Given the description of an element on the screen output the (x, y) to click on. 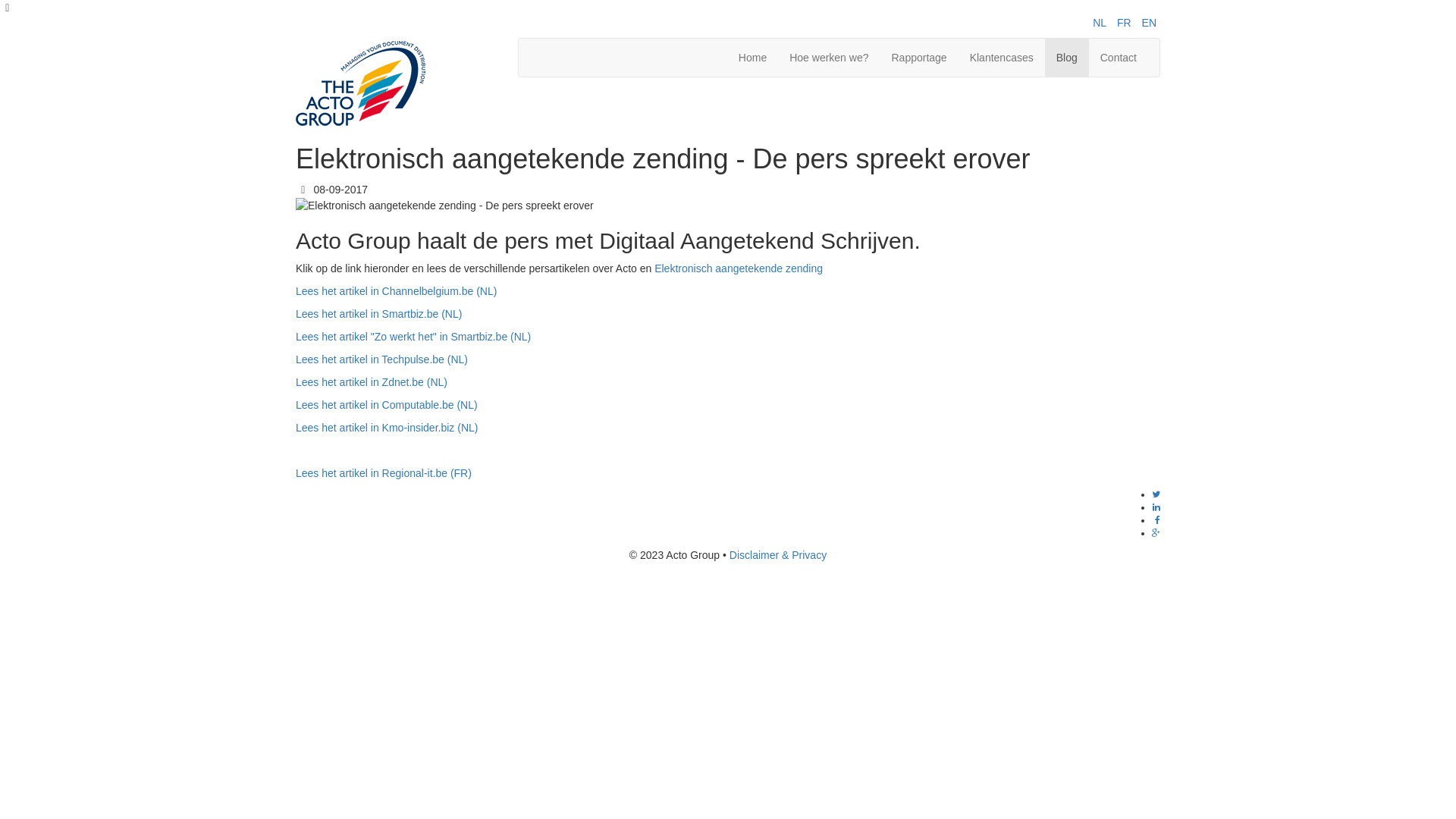
Contact Element type: text (1118, 57)
Elektronisch aangetekende zending Element type: text (738, 268)
NL Element type: text (1099, 22)
Klantencases Element type: text (1001, 57)
Lees het artikel in Techpulse.be (NL) Element type: text (381, 359)
FR Element type: text (1124, 22)
Blog Element type: text (1066, 57)
Lees het artikel in Kmo-insider.biz (NL) Element type: text (386, 427)
Disclaimer & Privacy Element type: text (777, 555)
Home Element type: text (752, 57)
Lees het artikel in Zdnet.be (NL) Element type: text (371, 382)
Lees het artikel in Channelbelgium.be (NL) Element type: text (395, 291)
EN Element type: text (1149, 22)
Lees het artikel "Zo werkt het" in Smartbiz.be (NL) Element type: text (412, 336)
Lees het artikel in Computable.be (NL) Element type: text (386, 404)
Rapportage Element type: text (918, 57)
Hoe werken we? Element type: text (828, 57)
Lees het artikel in Regional-it.be (FR) Element type: text (383, 473)
Lees het artikel in Smartbiz.be (NL) Element type: text (378, 313)
